Given the description of an element on the screen output the (x, y) to click on. 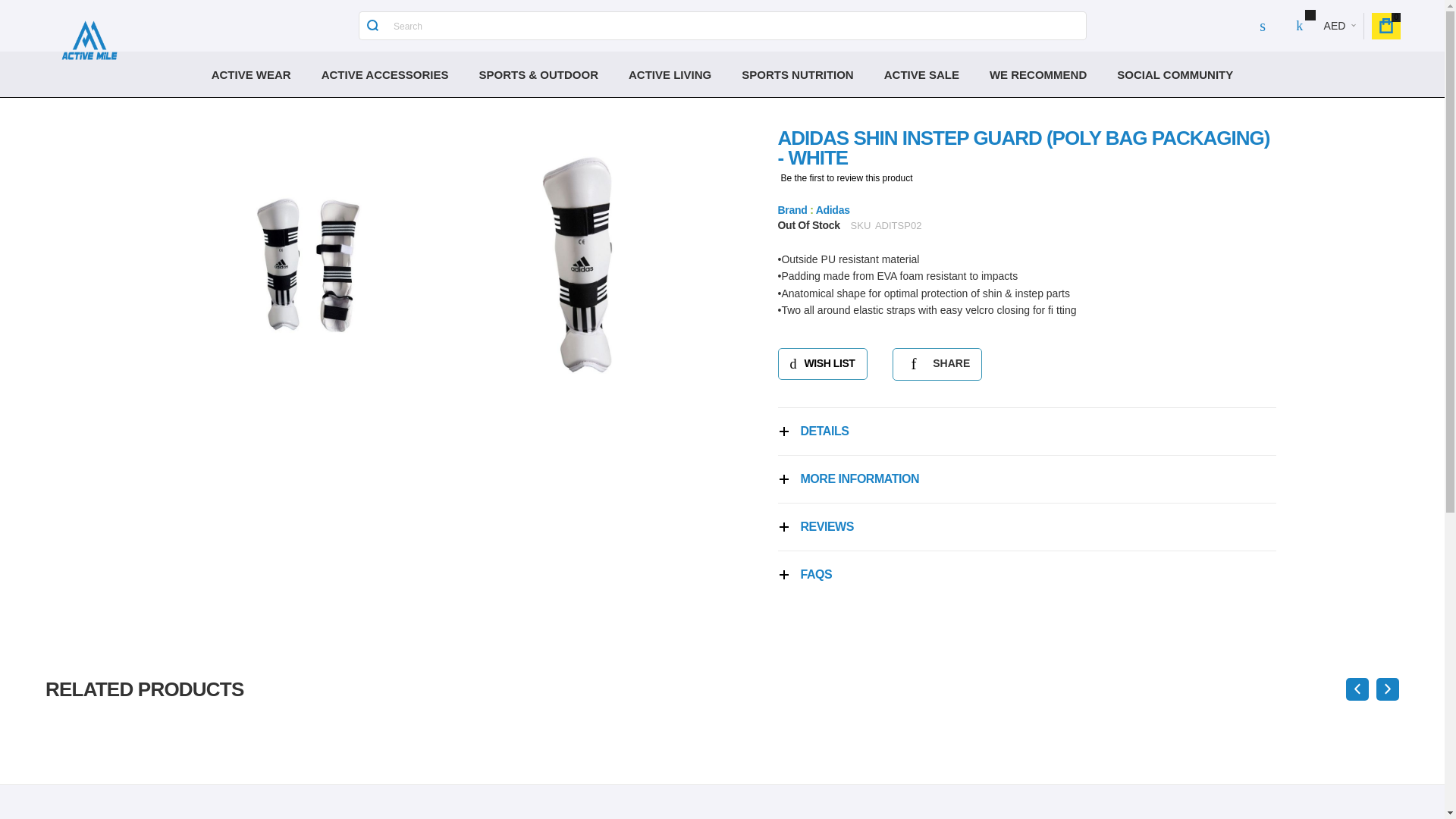
ACTIVE WEAR (250, 74)
0 (1385, 25)
ACTIVE ACCESSORIES (384, 74)
Go (372, 25)
MY ACCOUNT (1262, 25)
Availability (808, 225)
